Given the description of an element on the screen output the (x, y) to click on. 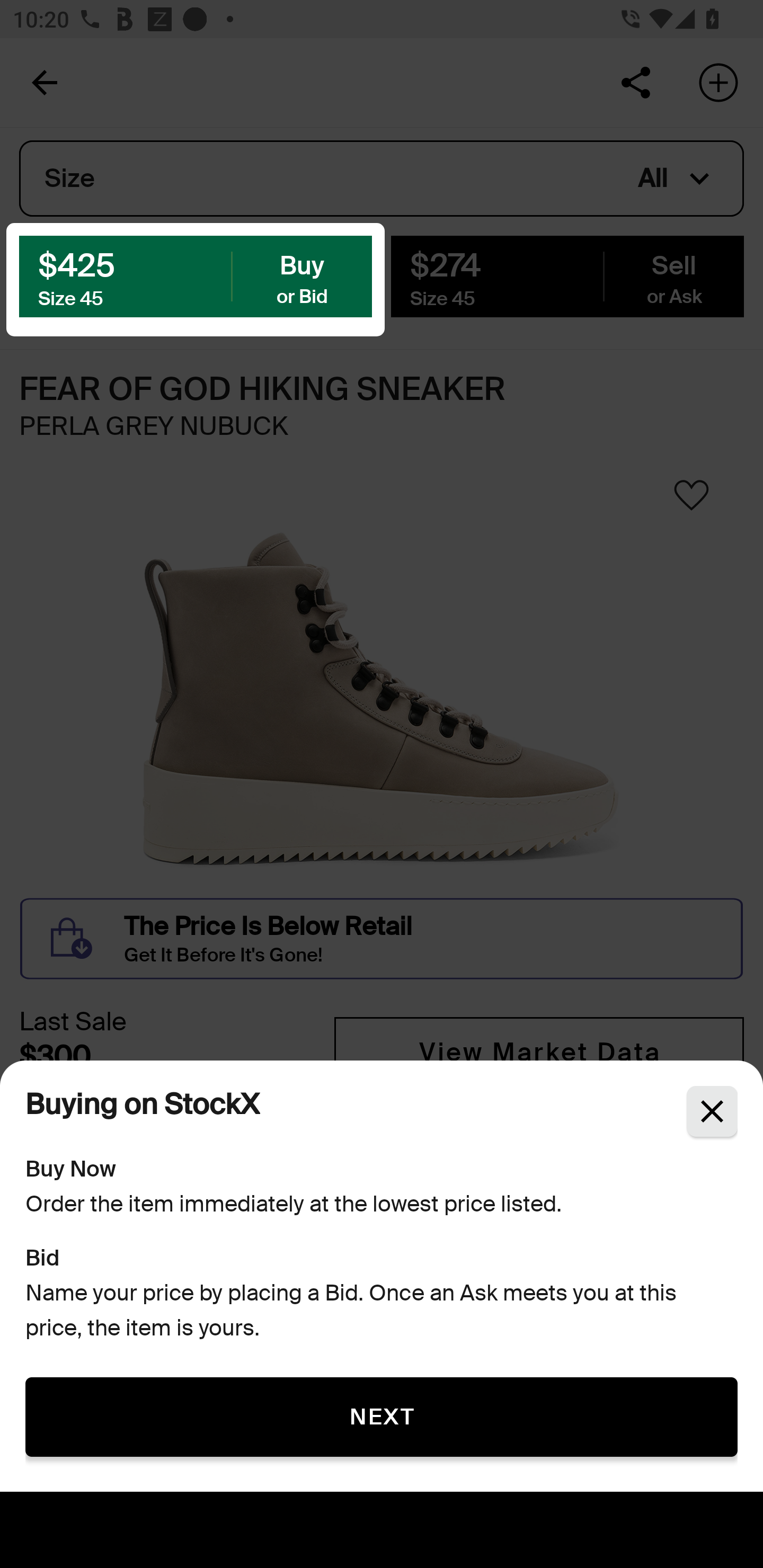
$425 Buy Size 45 or Bid (195, 275)
Close Button (711, 1111)
NEXT (381, 1416)
